Given the description of an element on the screen output the (x, y) to click on. 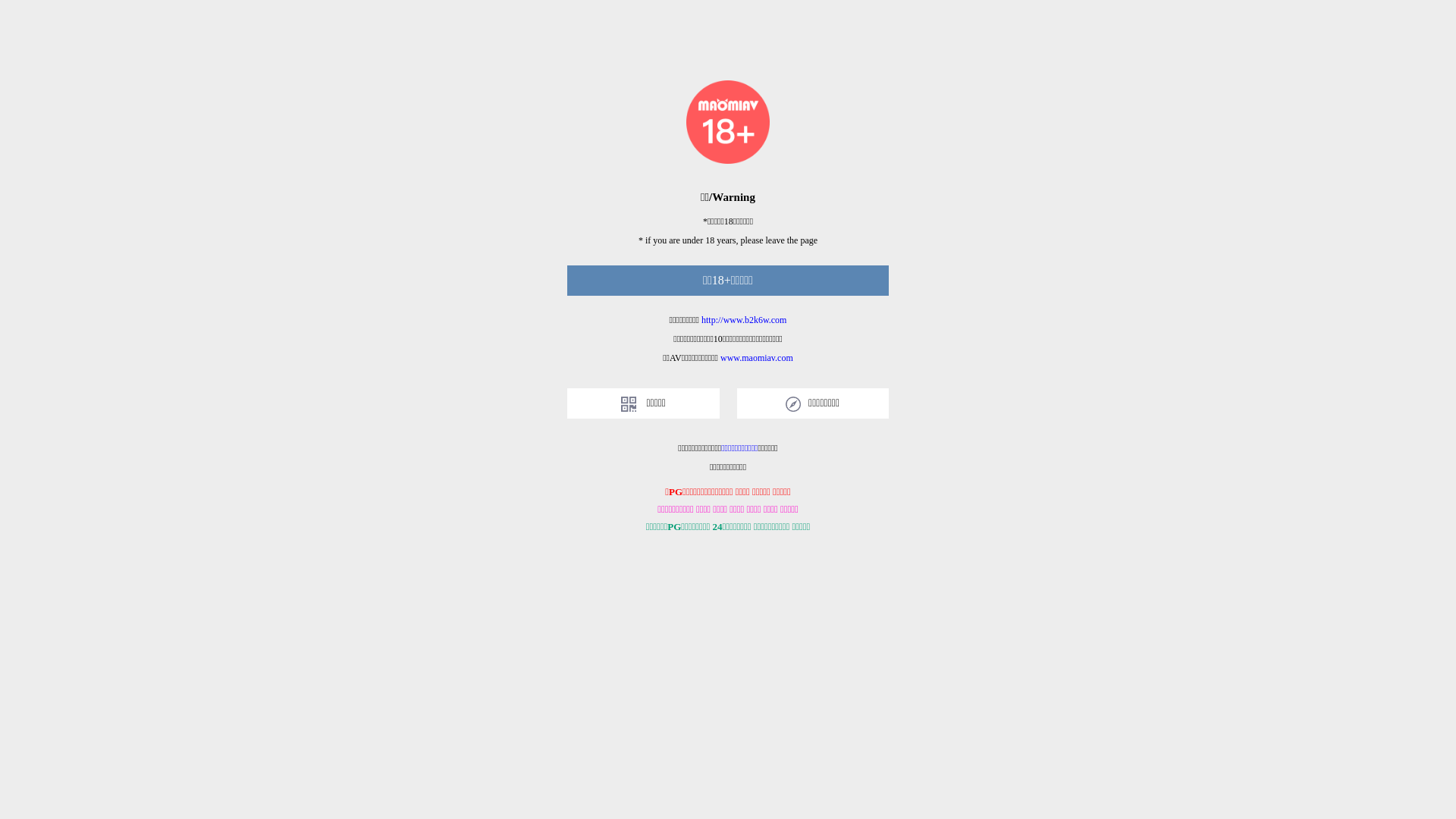
www.maomiav.com Element type: text (756, 357)
http://www.b2k6w.com Element type: text (743, 319)
